Given the description of an element on the screen output the (x, y) to click on. 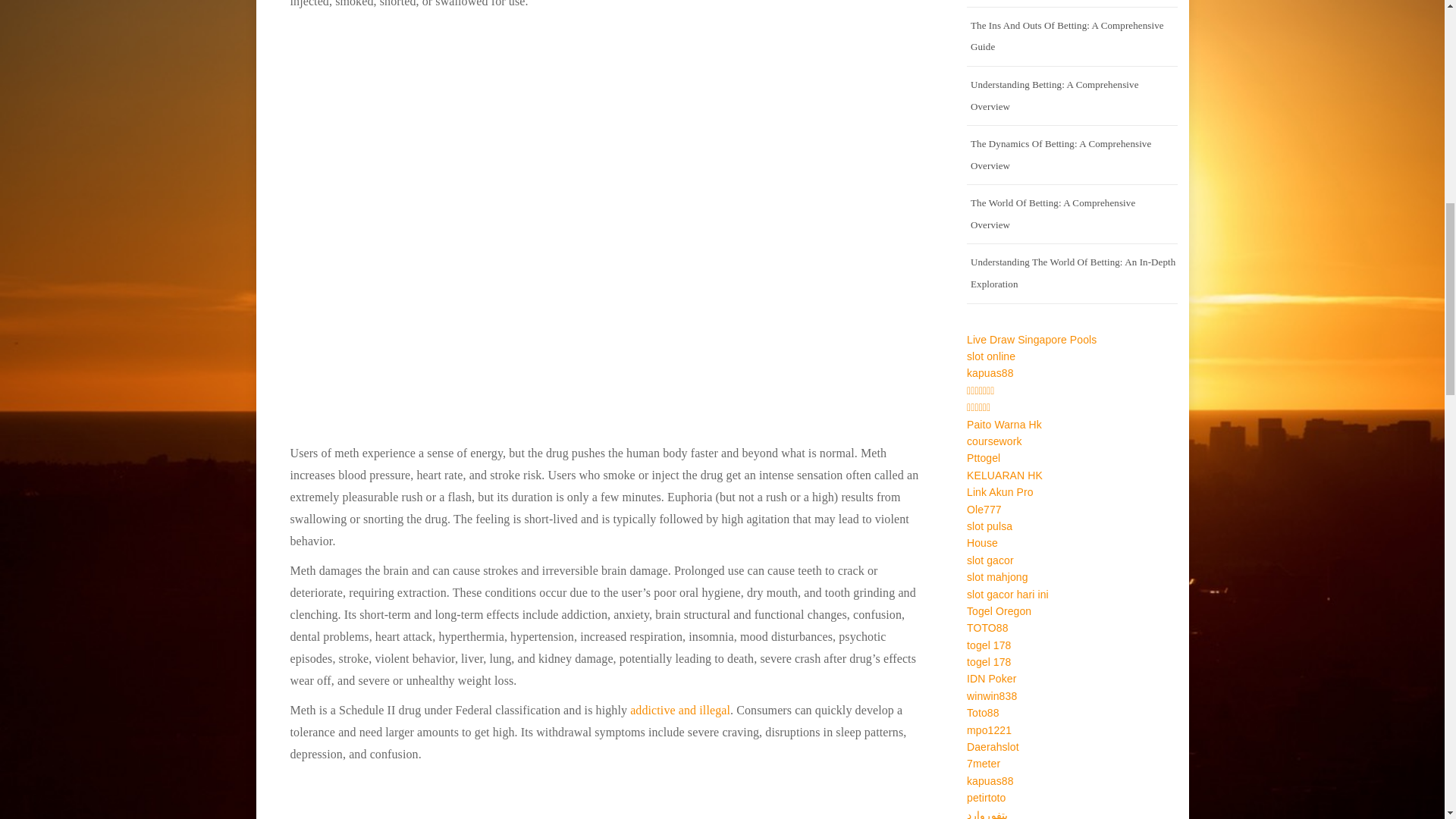
addictive and illegal (680, 709)
Advertisement (605, 796)
